Given the description of an element on the screen output the (x, y) to click on. 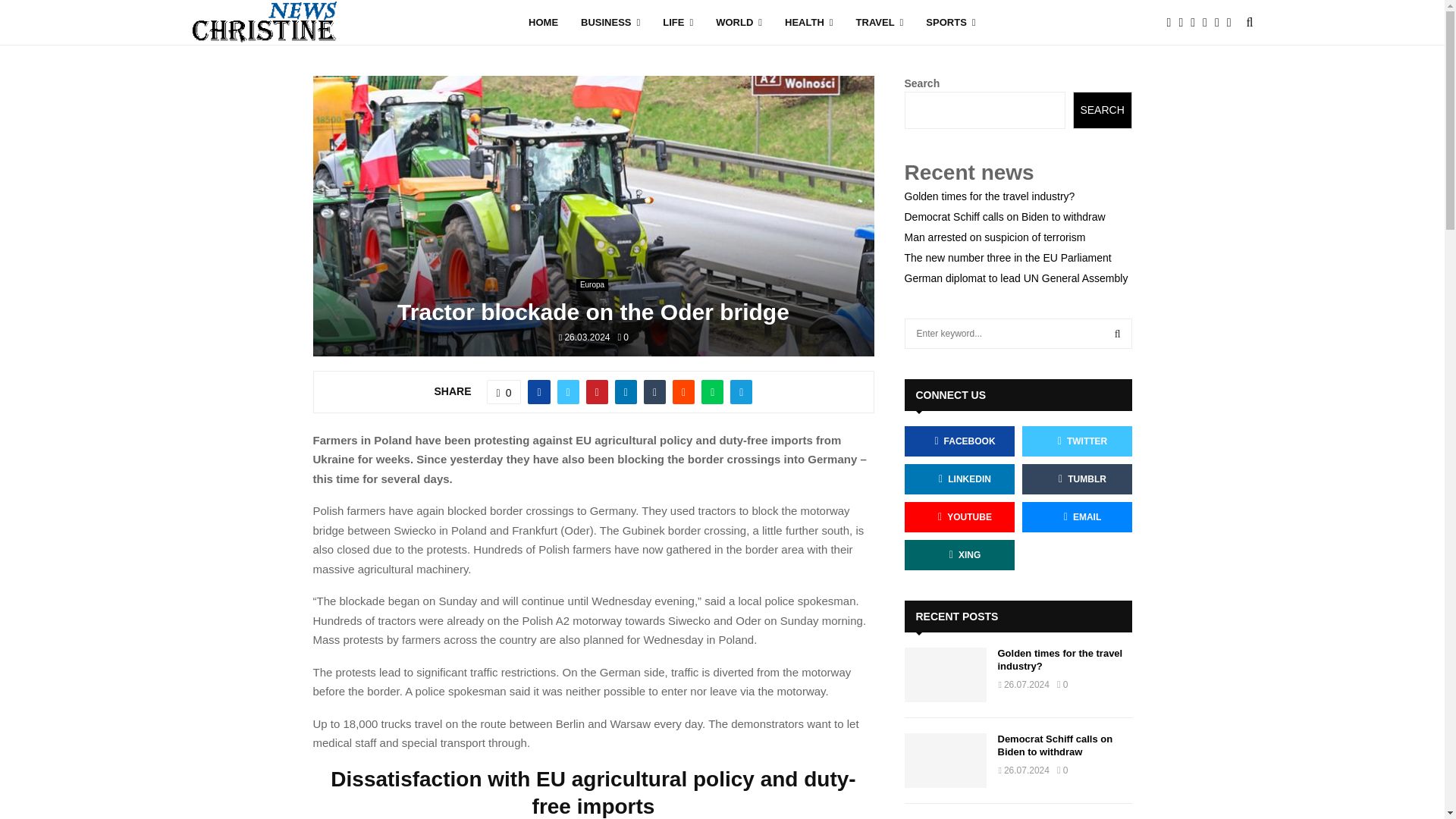
WORLD (738, 22)
BUSINESS (610, 22)
